Given the description of an element on the screen output the (x, y) to click on. 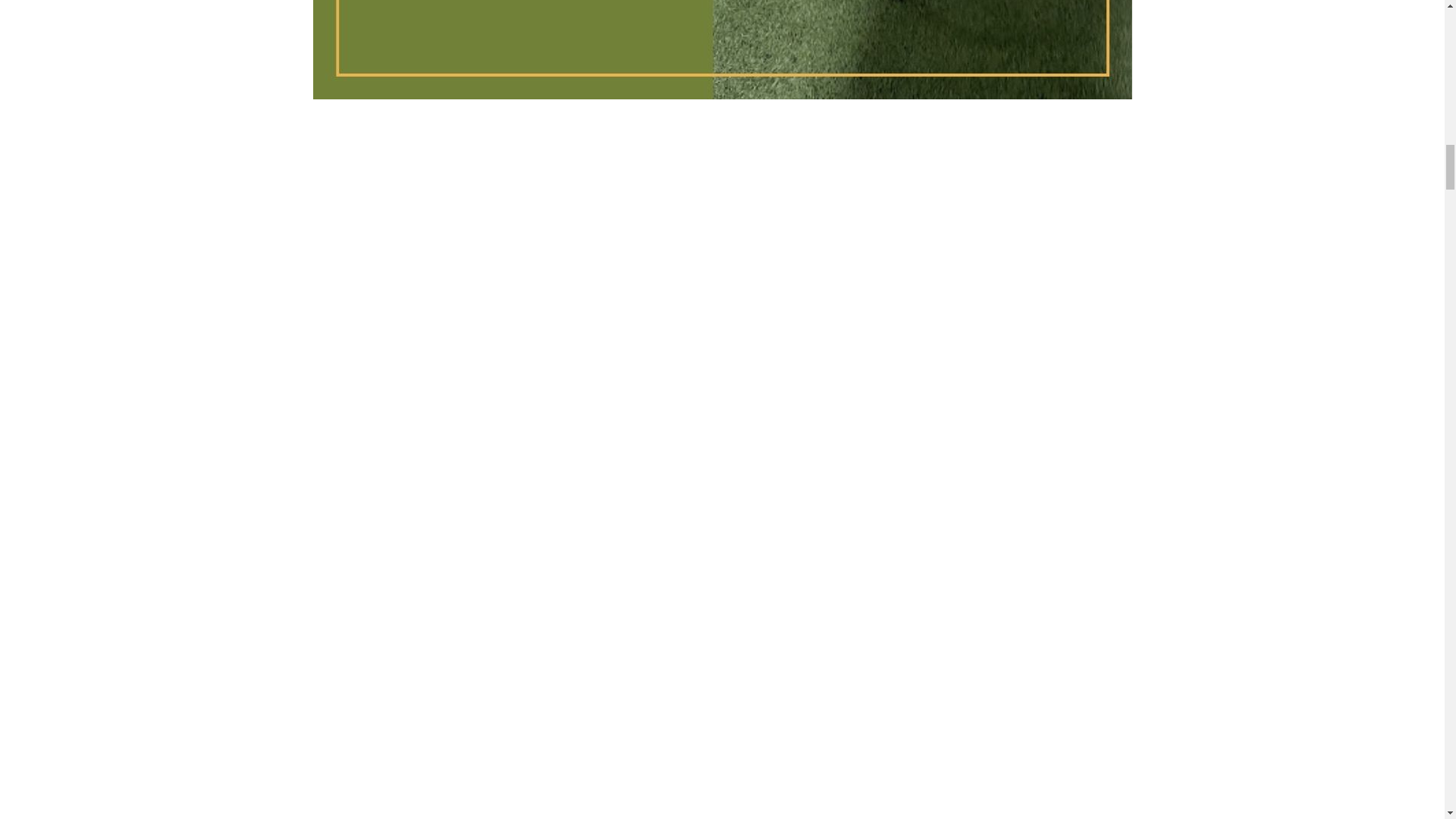
legos (722, 49)
